Given the description of an element on the screen output the (x, y) to click on. 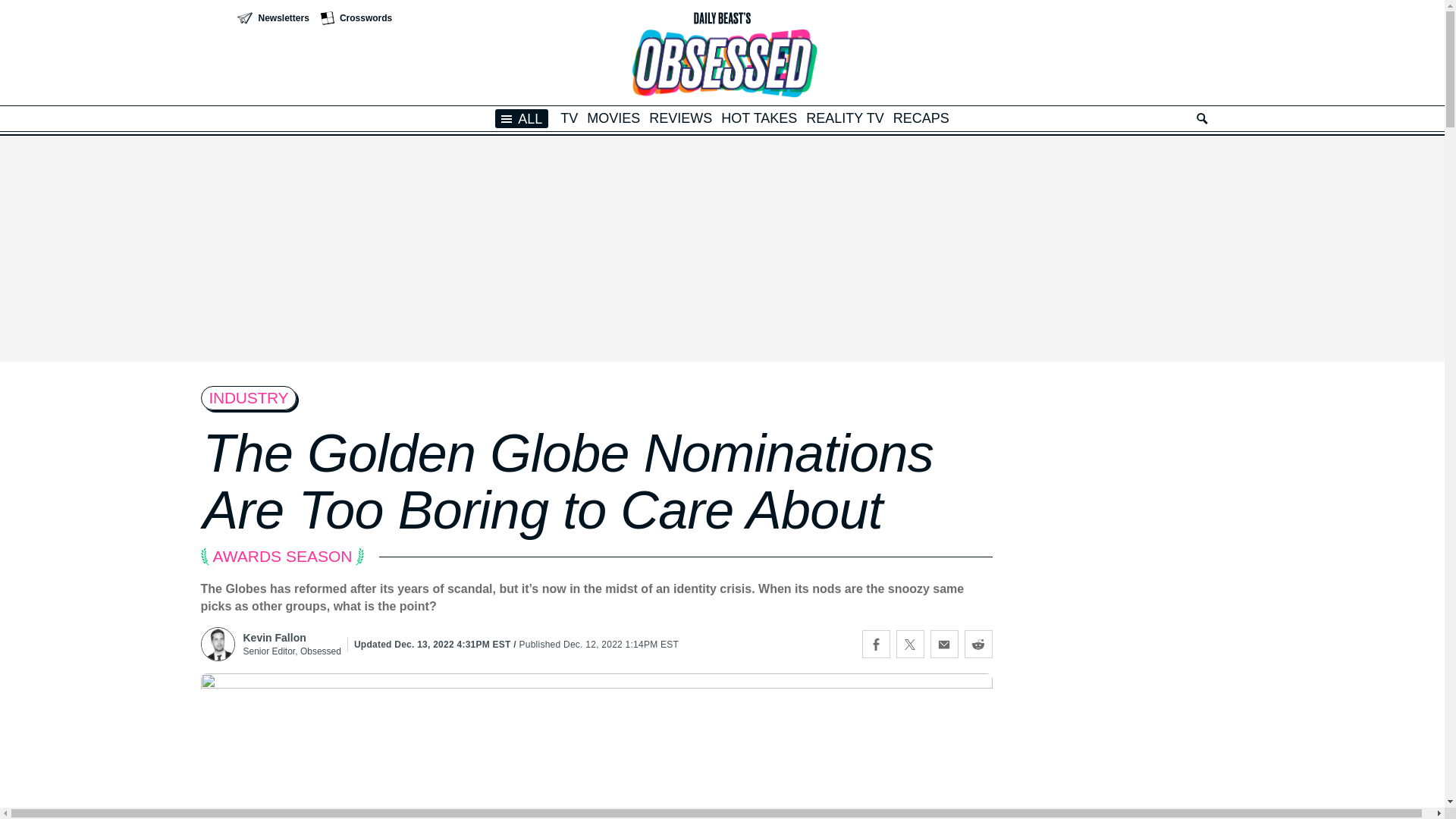
Senior Editor, Obsessed (291, 651)
ALL (521, 117)
HOT TAKES (758, 118)
REALITY TV (844, 118)
REVIEWS (680, 118)
INDUSTRY (248, 397)
RECAPS (921, 118)
Kevin Fallon (291, 637)
Newsletters (271, 18)
TV (569, 118)
